Given the description of an element on the screen output the (x, y) to click on. 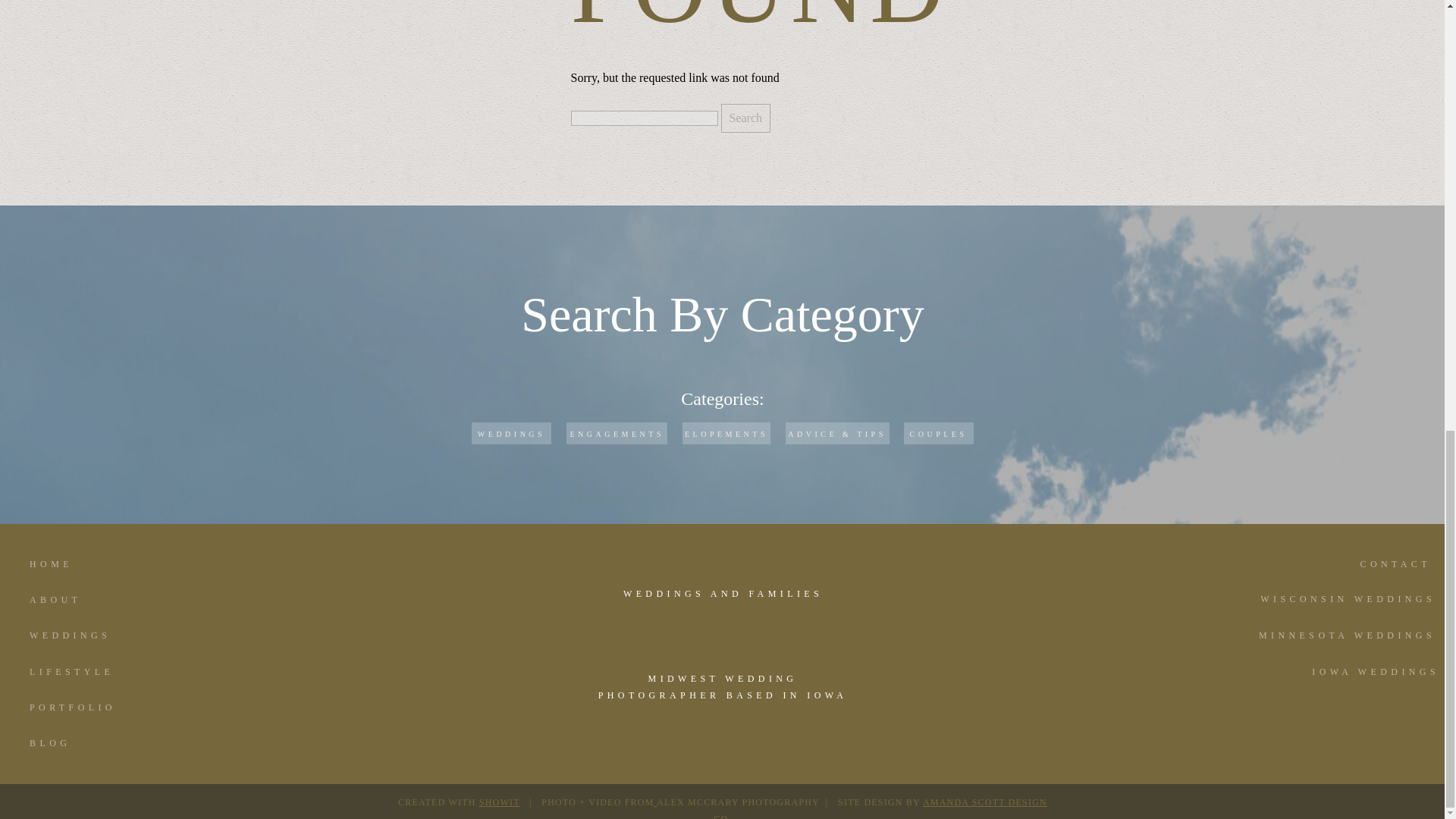
IOWA WEDDINGS (1339, 676)
LIFESTYLE  (94, 676)
CONTACT (1365, 568)
Search (745, 118)
MINNESOTA WEDDINGS (1335, 639)
BLOG (94, 747)
ABOUT (94, 604)
WEDDINGS (510, 433)
PORTFOLIO (94, 711)
SHOWIT (499, 801)
